Given the description of an element on the screen output the (x, y) to click on. 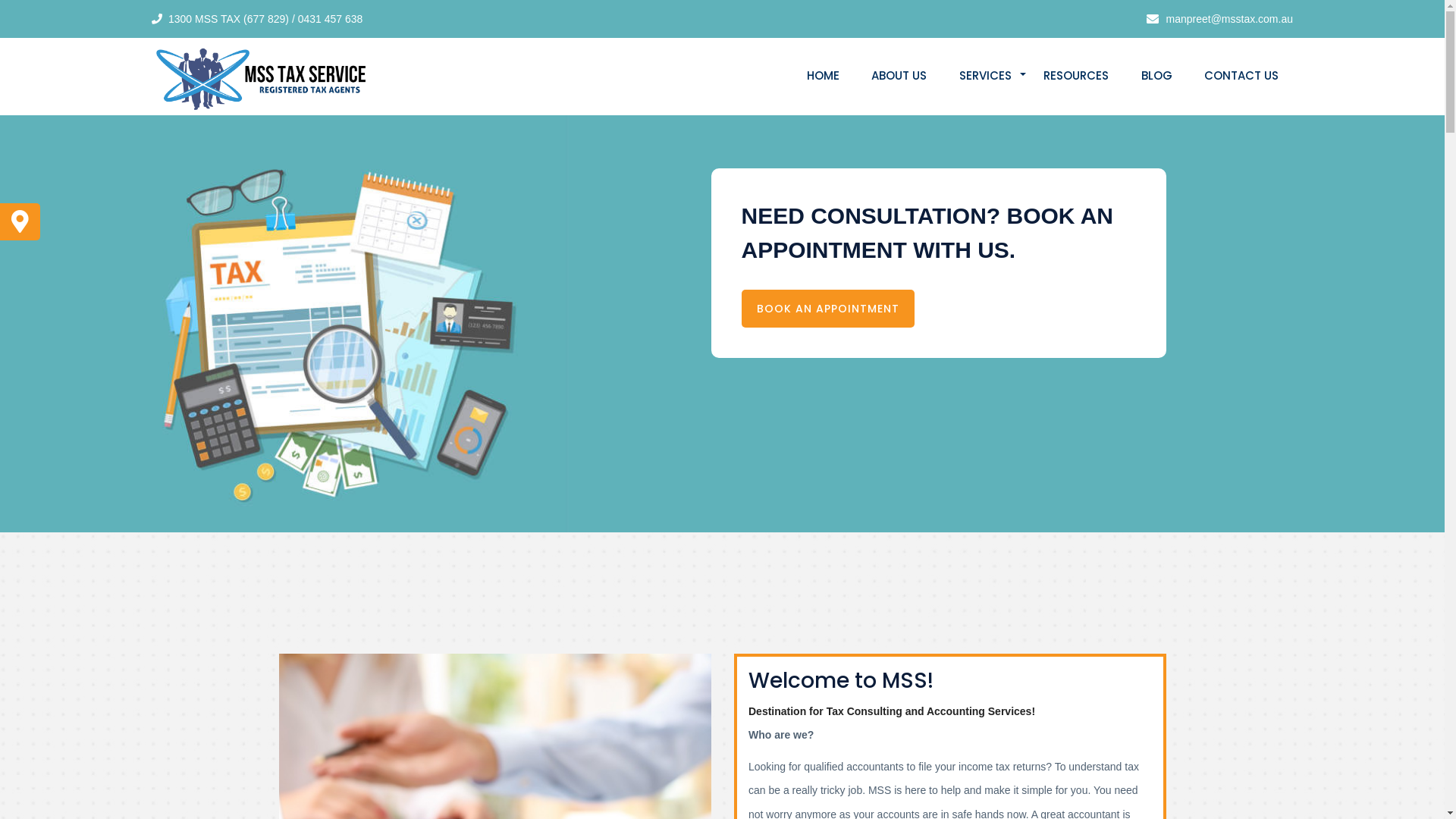
RESOURCES Element type: text (1076, 75)
BOOK AN APPOINTMENT Element type: text (827, 308)
ABOUT US Element type: text (898, 75)
manpreet@msstax.com.au Element type: text (1225, 18)
BLOG Element type: text (1156, 75)
HOME Element type: text (822, 75)
1300 MSS TAX (677 829) / 0431 457 638 Element type: text (265, 18)
SERVICES Element type: text (985, 75)
CONTACT US Element type: text (1240, 75)
